Given the description of an element on the screen output the (x, y) to click on. 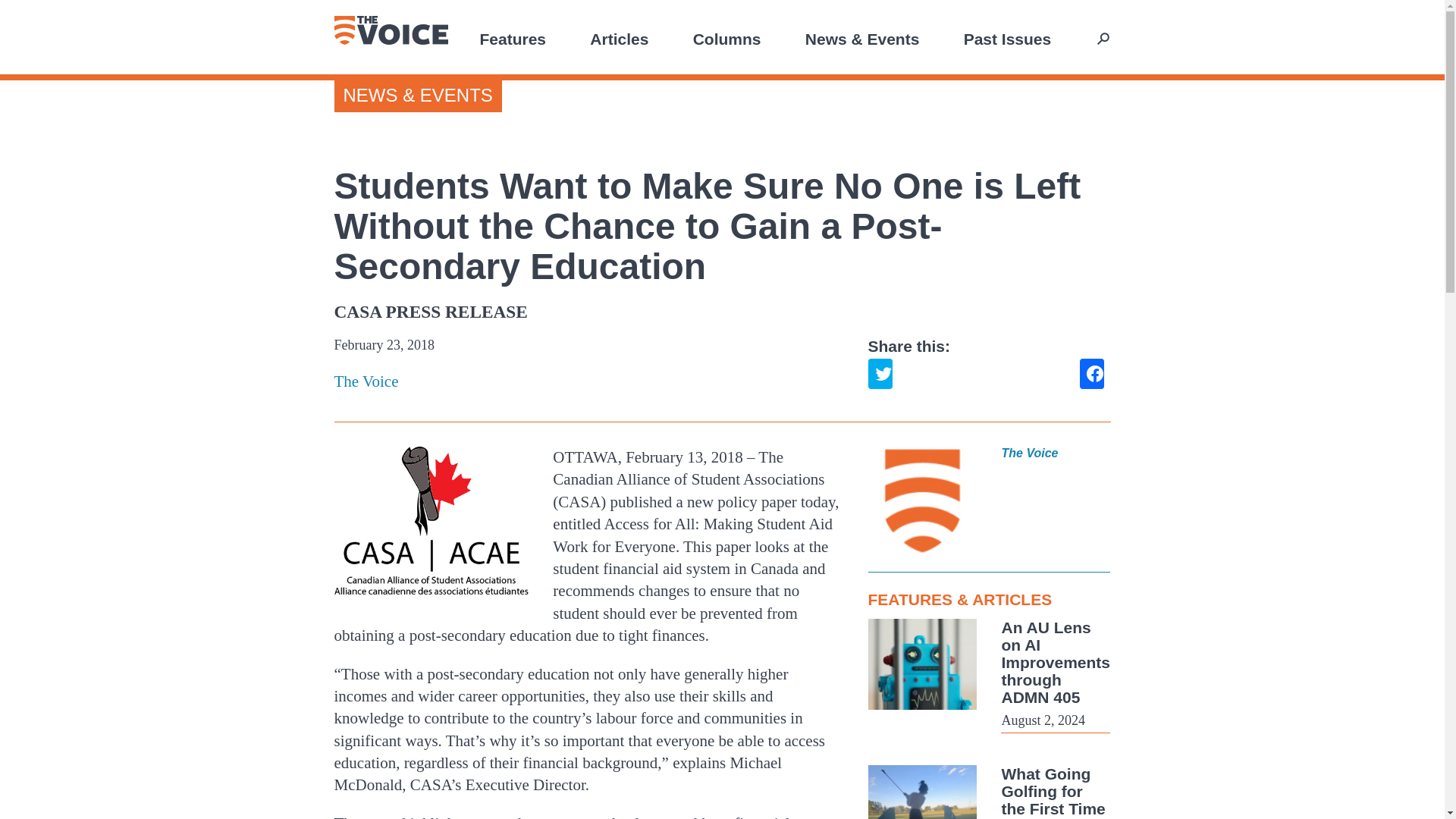
Articles (618, 38)
An AU Lens on AI Improvements through ADMN 405 (1055, 662)
What Going Golfing for the First Time Taught Me (1053, 791)
The Voice (389, 30)
Posts by The Voice (588, 382)
An AU Lens on AI Improvements through ADMN 405 (1055, 662)
Features (512, 38)
What Going Golfing for the First Time Taught Me (1053, 791)
Past Issues (1007, 38)
The Voice (588, 382)
Columns (727, 38)
